Given the description of an element on the screen output the (x, y) to click on. 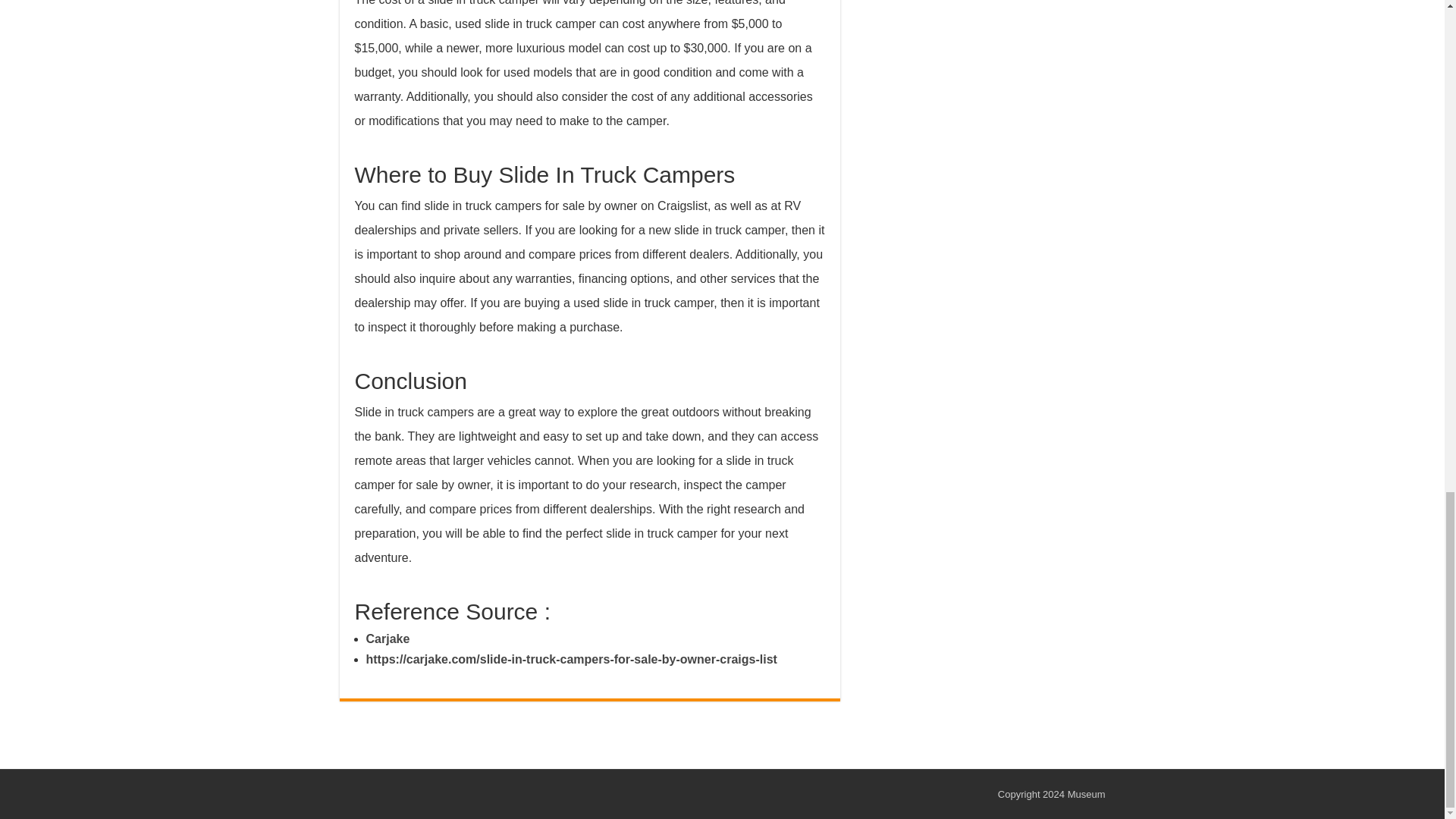
Museum (1086, 794)
Carjake (387, 638)
